Given the description of an element on the screen output the (x, y) to click on. 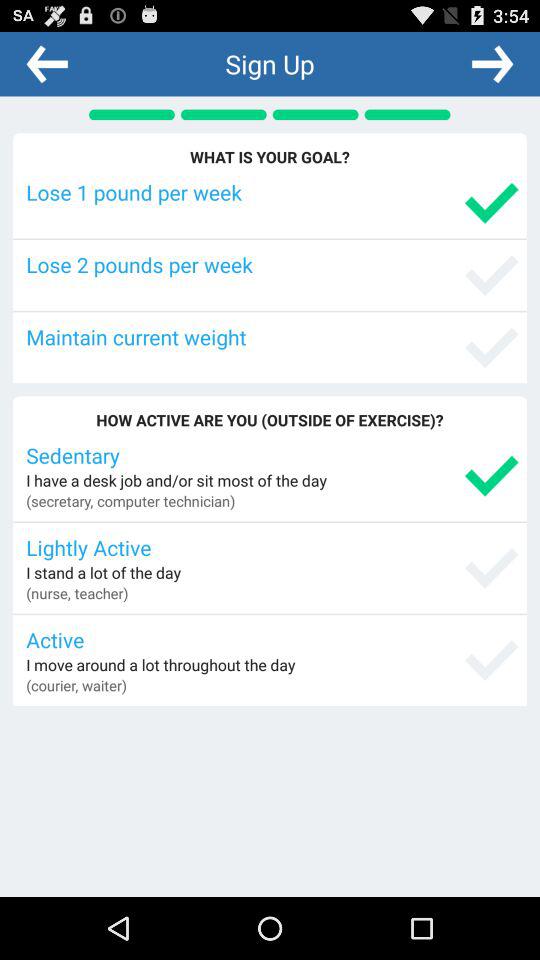
press the icon below i have a app (130, 500)
